Given the description of an element on the screen output the (x, y) to click on. 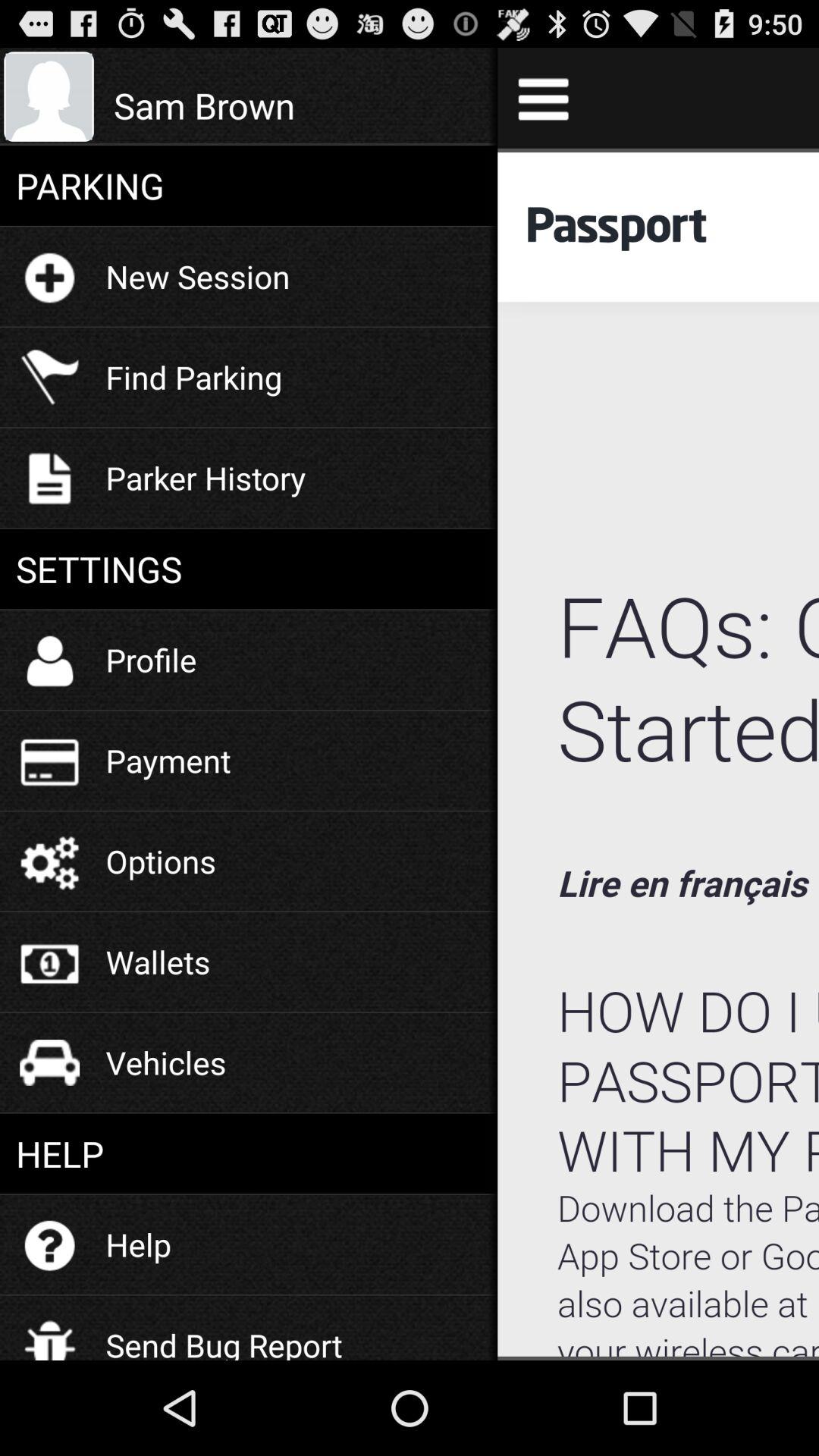
select the profile icon (150, 659)
